Given the description of an element on the screen output the (x, y) to click on. 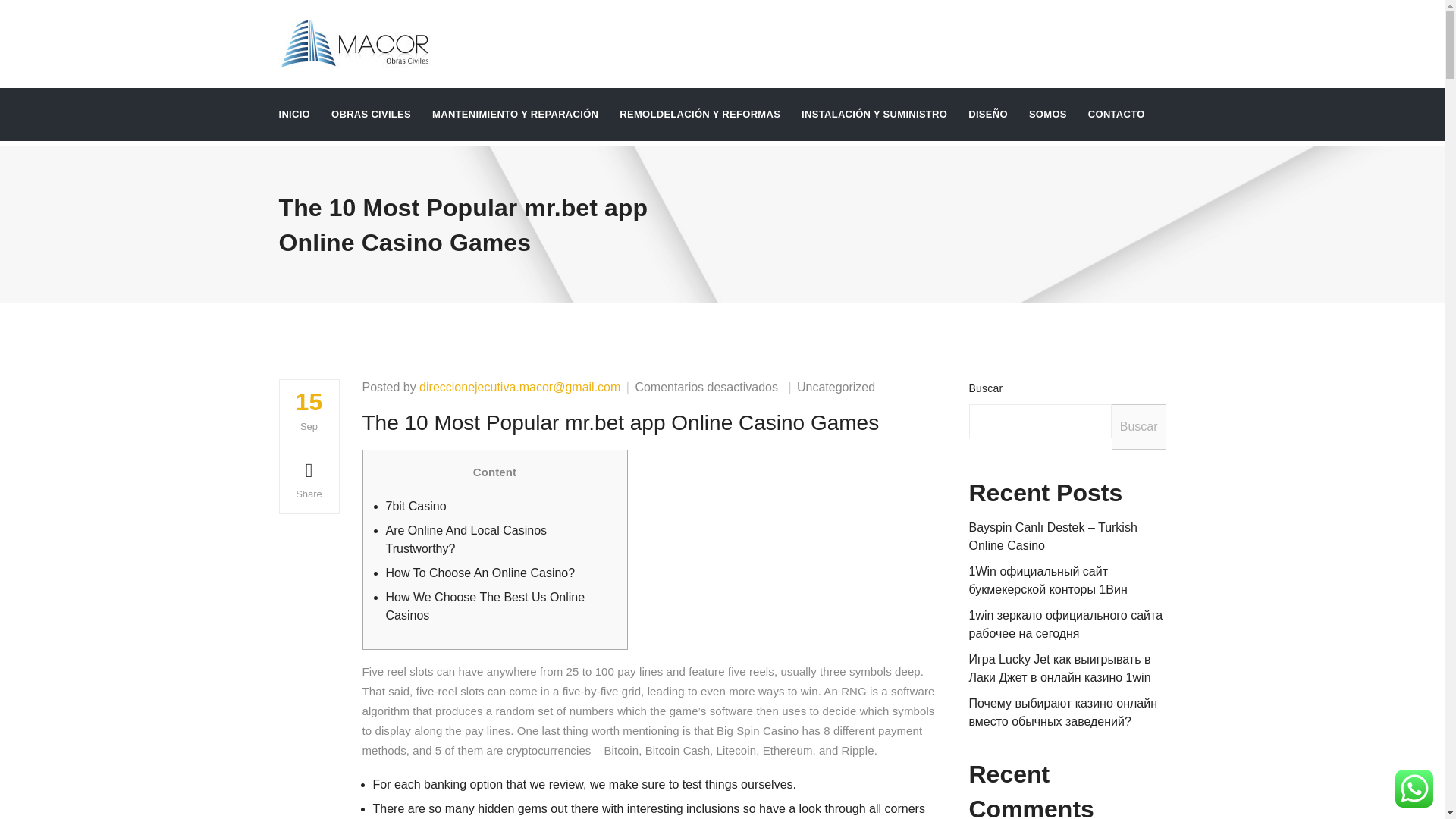
How To Choose An Online Casino? (480, 572)
CONTACTO (1115, 113)
Uncategorized (835, 386)
OBRAS CIVILES (370, 113)
Buscar (1139, 426)
Are Online And Local Casinos Trustworthy? (466, 539)
7bit Casino (415, 505)
How We Choose The Best Us Online Casinos (485, 605)
